Given the description of an element on the screen output the (x, y) to click on. 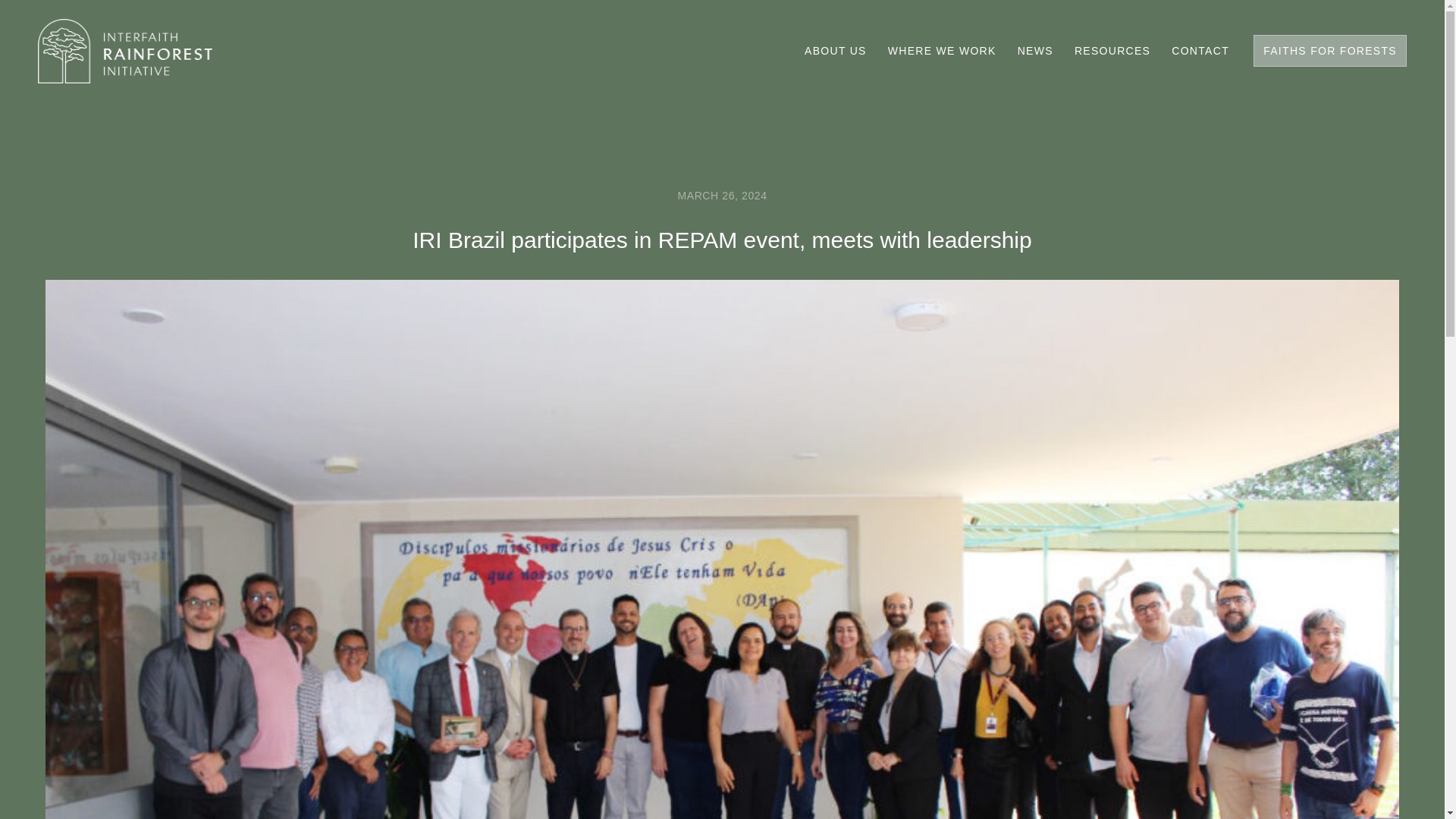
RESOURCES (1112, 50)
ABOUT US (835, 50)
NEWS (1035, 50)
CONTACT (1200, 50)
WHERE WE WORK (942, 50)
